Given the description of an element on the screen output the (x, y) to click on. 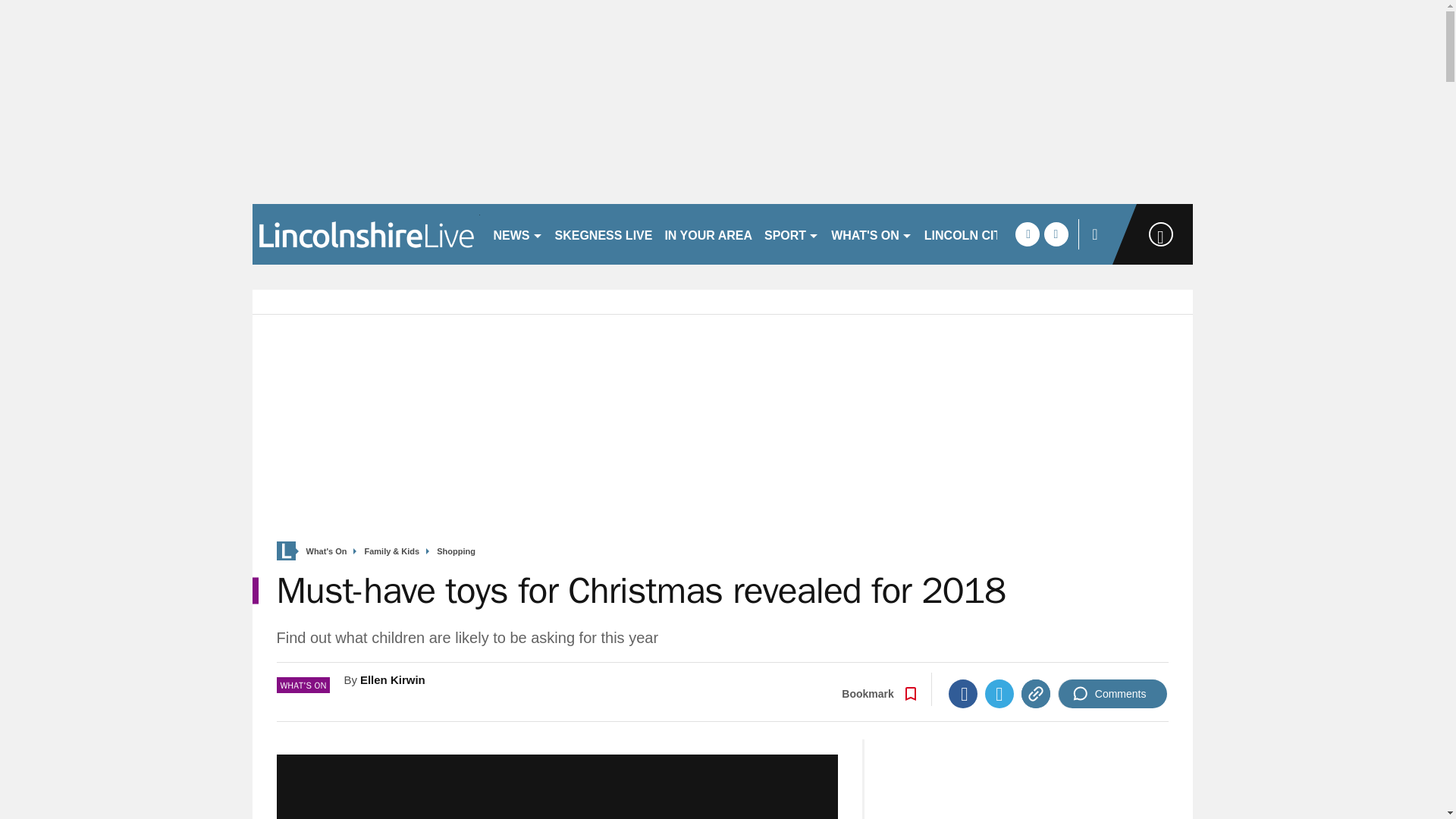
SKEGNESS LIVE (603, 233)
Comments (1112, 693)
lincolnshirelive (365, 233)
IN YOUR AREA (708, 233)
Facebook (962, 693)
NEWS (517, 233)
facebook (1026, 233)
Twitter (999, 693)
twitter (1055, 233)
SPORT (791, 233)
WHAT'S ON (871, 233)
LINCOLN CITY FC (975, 233)
